Given the description of an element on the screen output the (x, y) to click on. 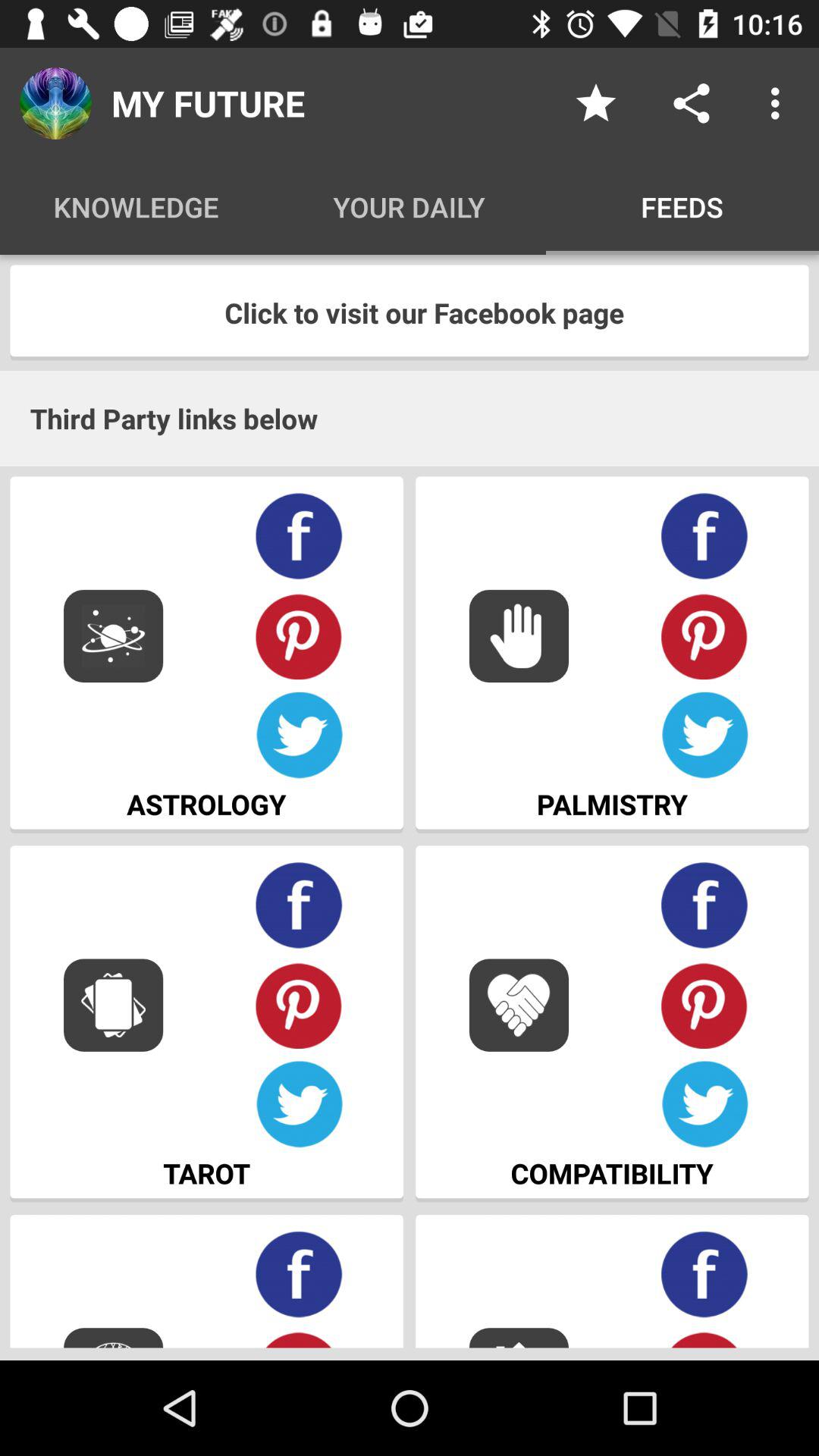
open in pinterest (299, 1005)
